Given the description of an element on the screen output the (x, y) to click on. 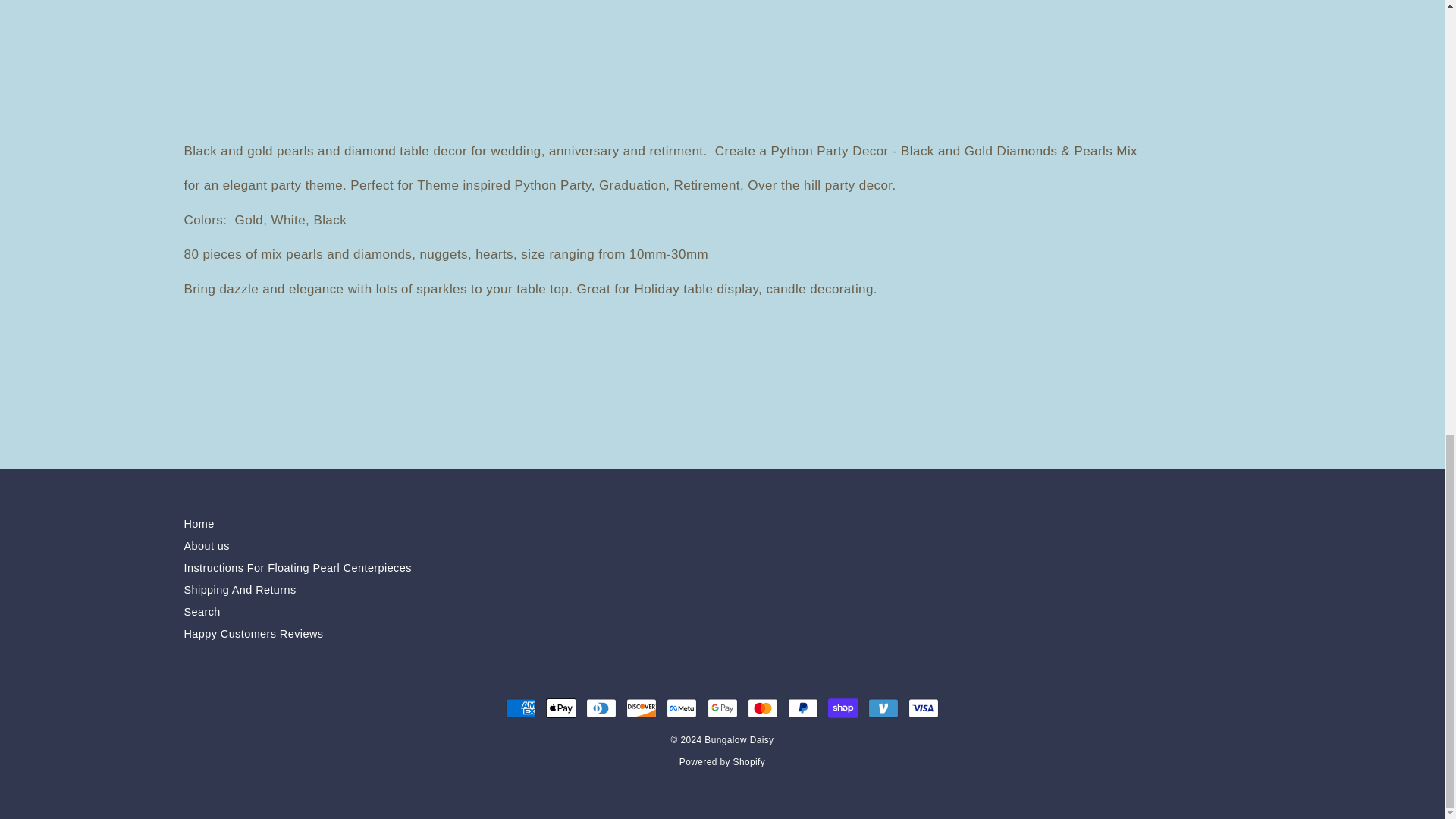
Shop Pay (843, 707)
Diners Club (600, 707)
Venmo (882, 707)
Meta Pay (681, 707)
American Express (520, 707)
Visa (923, 707)
Mastercard (762, 707)
PayPal (802, 707)
Google Pay (721, 707)
Apple Pay (561, 707)
